Given the description of an element on the screen output the (x, y) to click on. 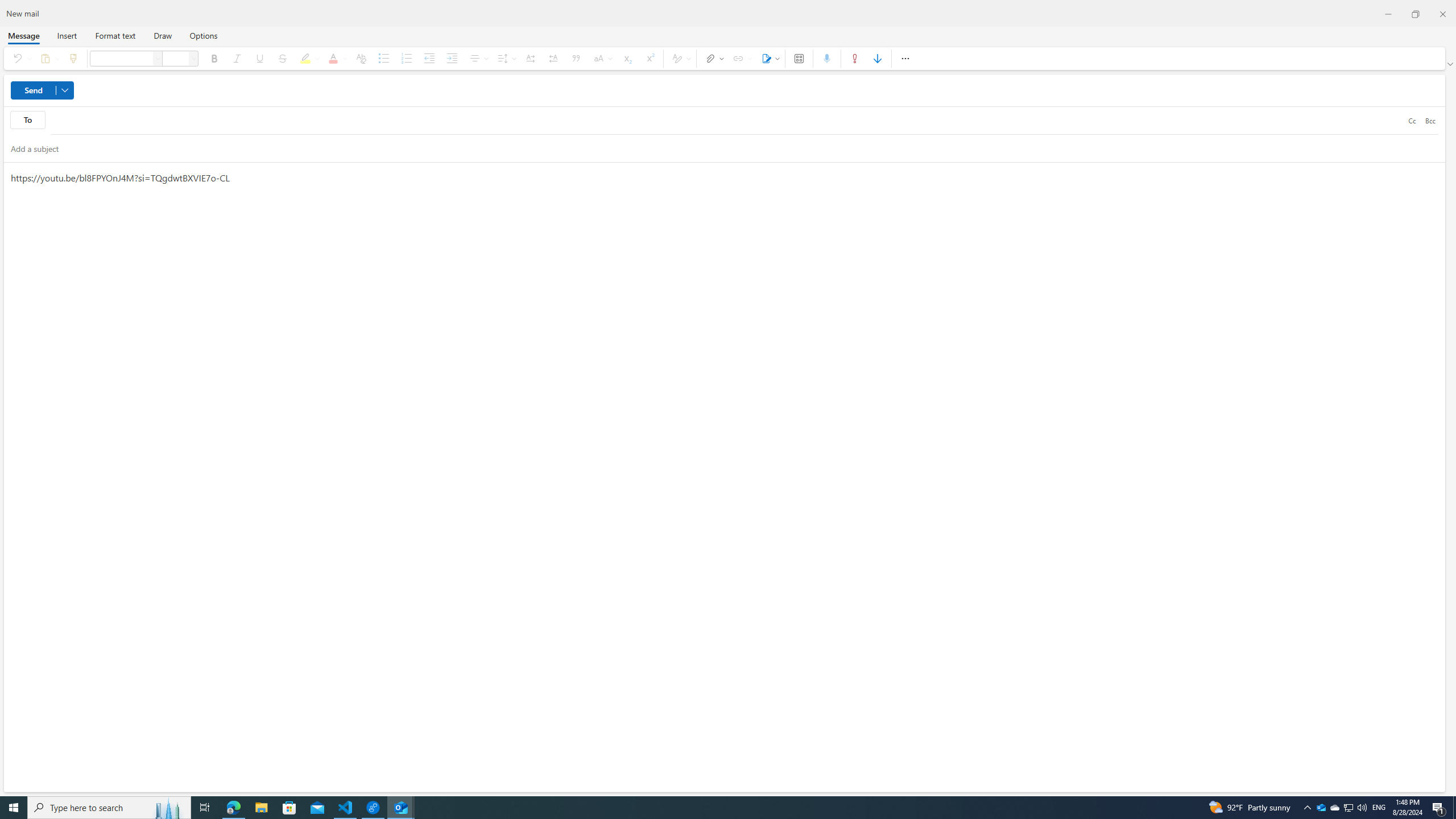
Bullets (383, 58)
More send options (64, 90)
Superscript (649, 58)
Cc (1412, 120)
Numbering (405, 58)
